Given the description of an element on the screen output the (x, y) to click on. 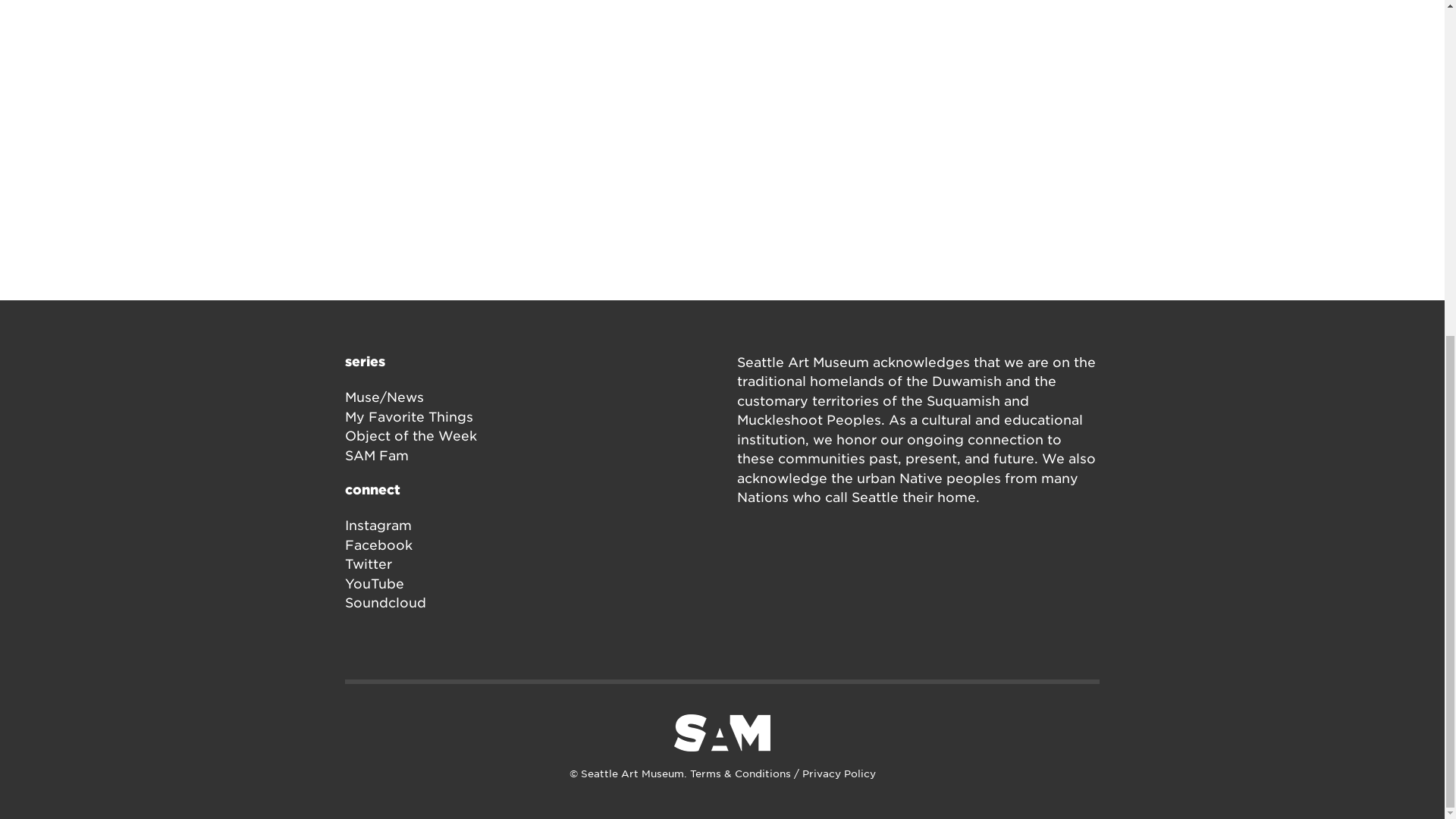
YouTube (374, 583)
Object of the Week (411, 435)
Soundcloud (385, 602)
Instagram (378, 525)
Privacy Policy (839, 774)
My Favorite Things (409, 417)
SAM Fam (377, 455)
Facebook (378, 544)
Twitter (368, 563)
